Given the description of an element on the screen output the (x, y) to click on. 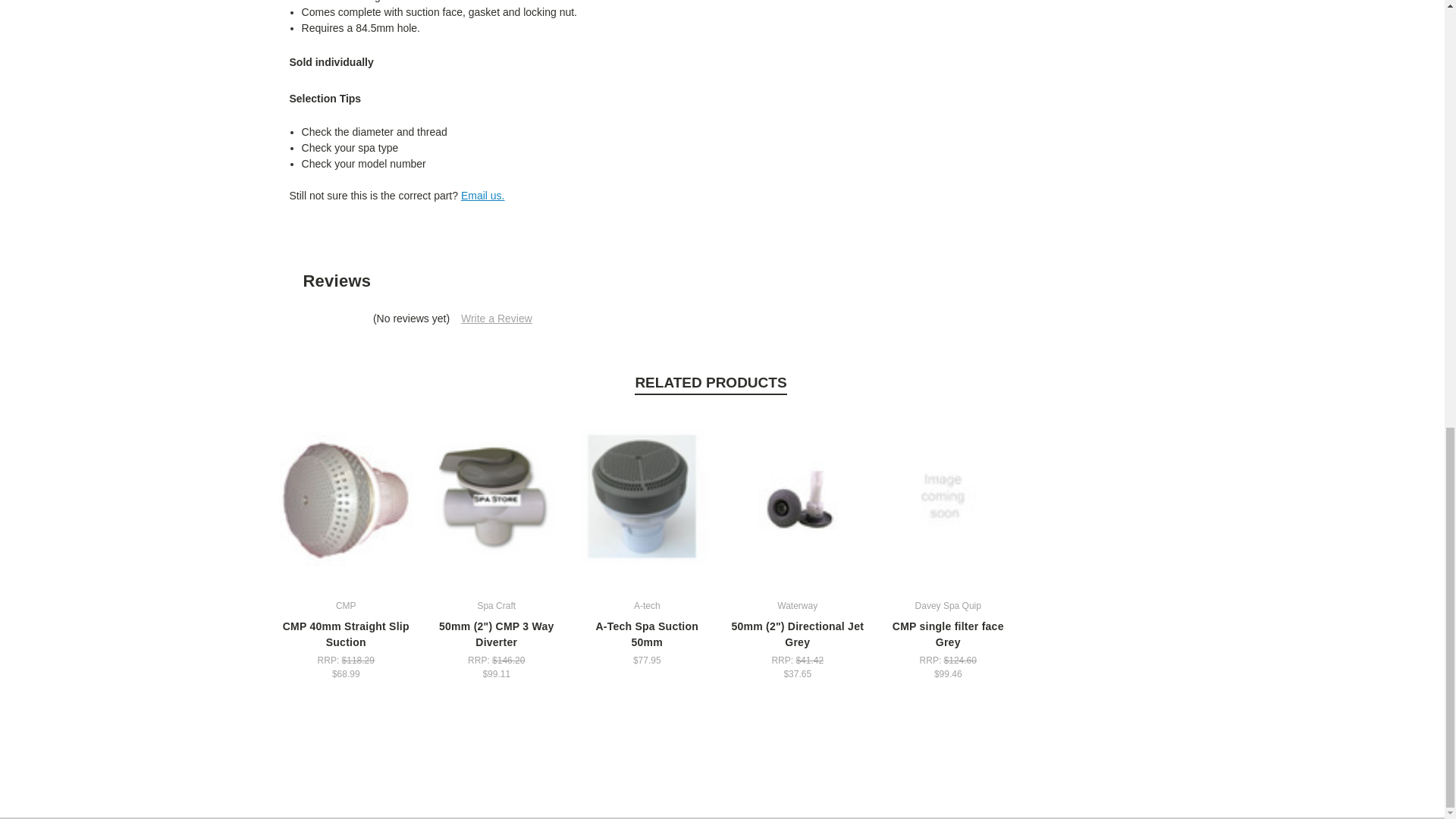
CMP 40mm Straight Slip Suction (346, 499)
CMP single filter face Grey (948, 499)
A-Tech Spa Suction 50mm (646, 498)
